Given the description of an element on the screen output the (x, y) to click on. 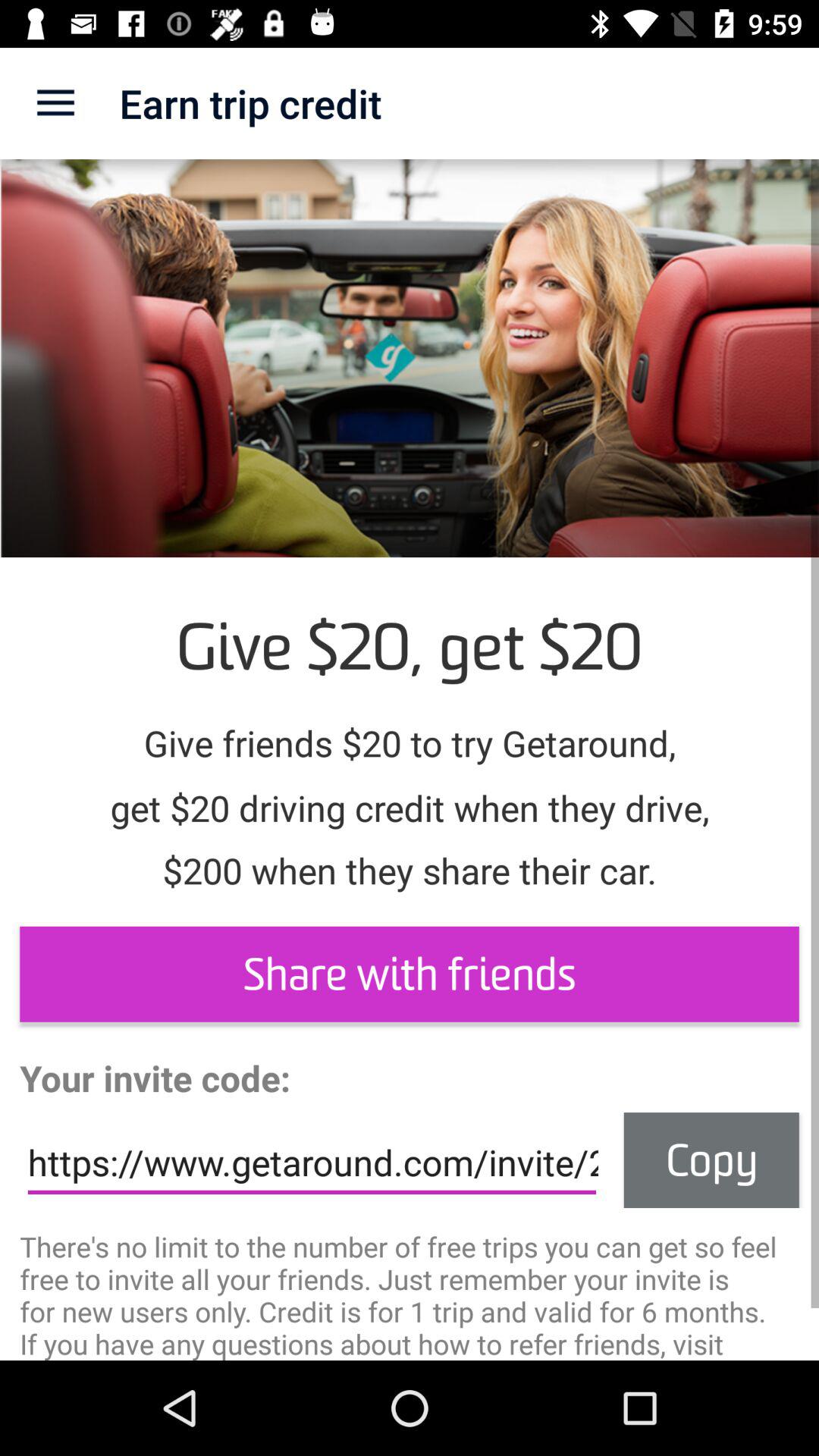
launch the https www getaround item (311, 1163)
